Given the description of an element on the screen output the (x, y) to click on. 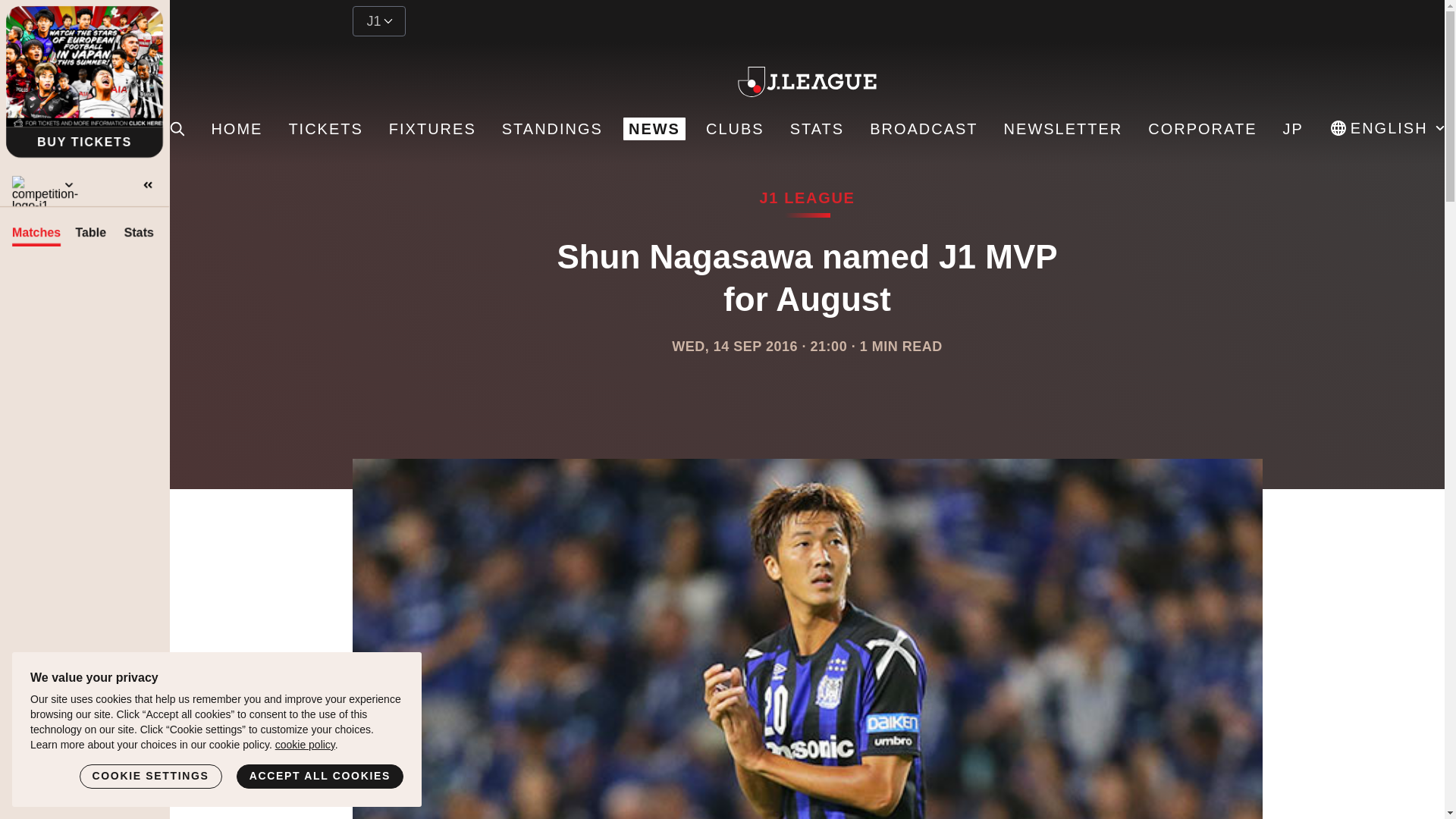
HOME (236, 128)
STANDINGS (552, 128)
TICKETS (325, 128)
BROADCAST (923, 128)
CORPORATE (1202, 128)
NEWS (654, 128)
CLUBS (735, 128)
JP (1291, 128)
NEWSLETTER (1063, 128)
FIXTURES (432, 128)
STATS (816, 128)
